Given the description of an element on the screen output the (x, y) to click on. 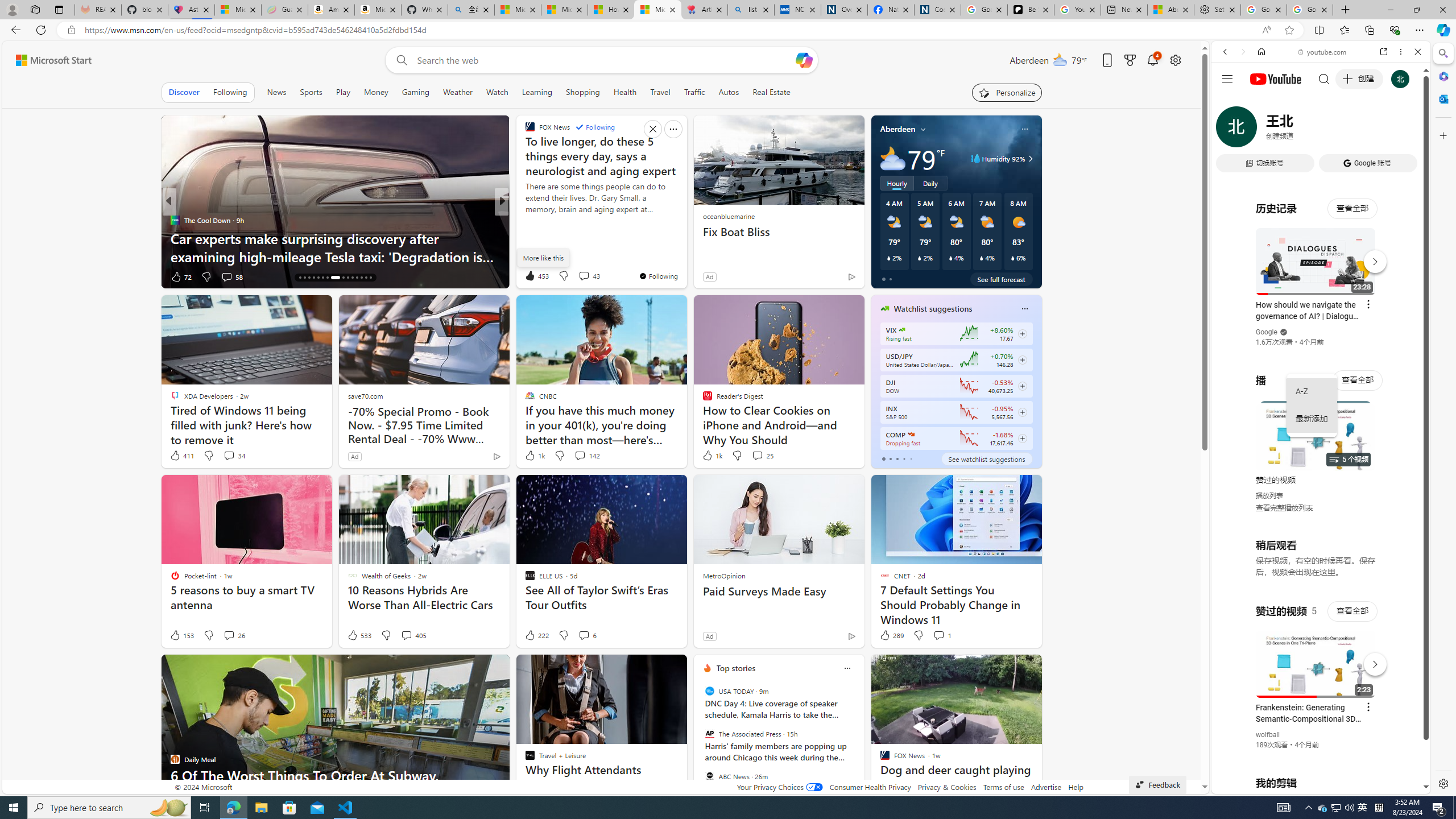
The Associated Press (709, 733)
Personalize your feed" (1007, 92)
View comments 67 Comment (580, 276)
